Given the description of an element on the screen output the (x, y) to click on. 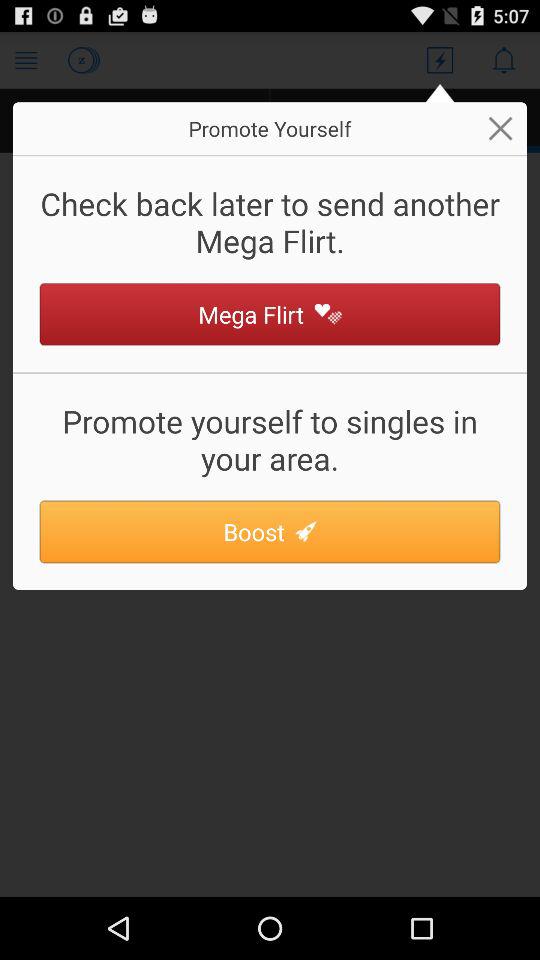
go to closed option (500, 128)
